Given the description of an element on the screen output the (x, y) to click on. 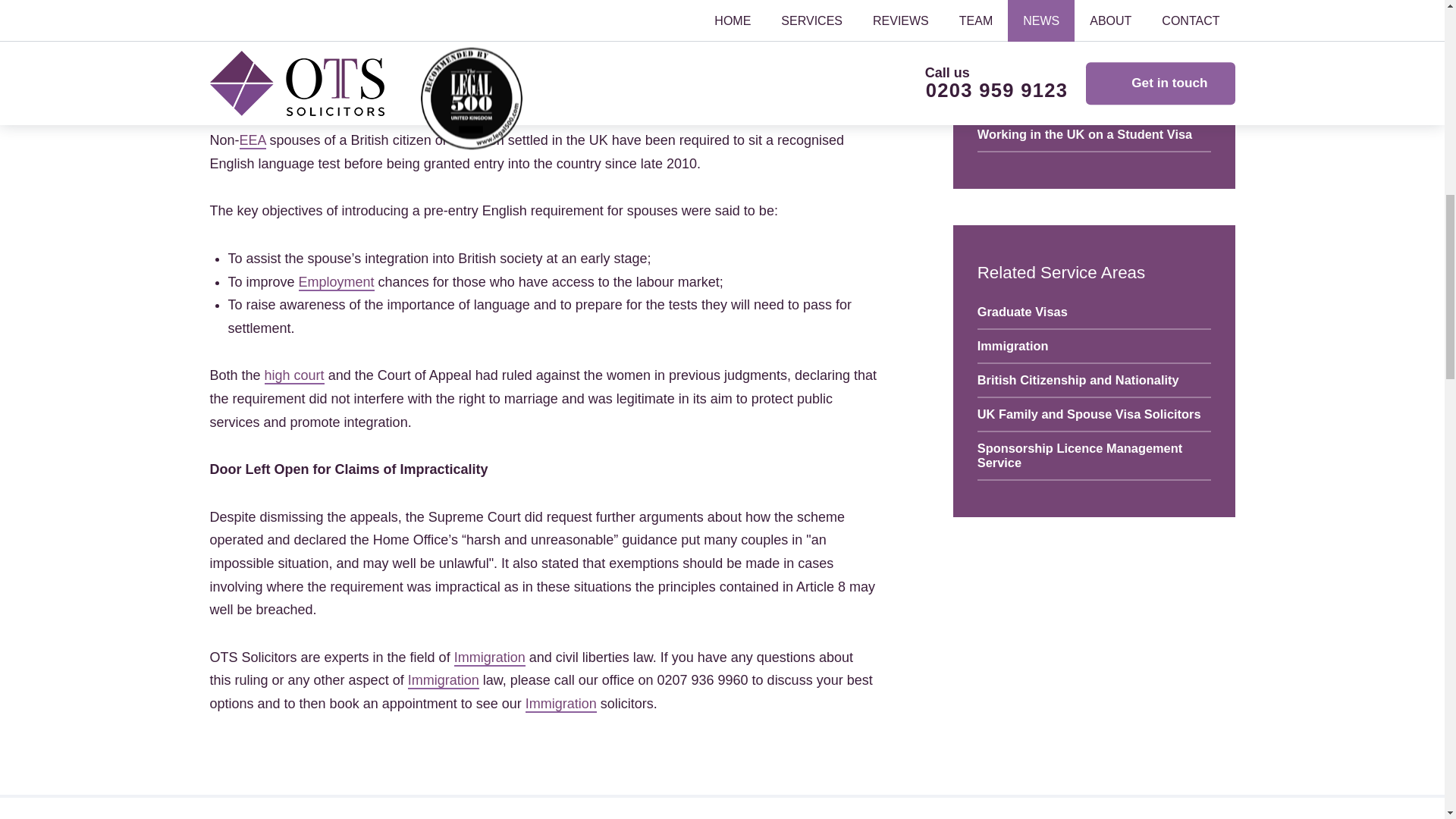
Immigration (443, 680)
Should I Send my Child Overseas for Schooling? (1093, 93)
Employment (336, 282)
Immigration (1093, 346)
Immigration (489, 658)
Graduate Visas (1093, 312)
Immigration (489, 658)
EEA (253, 140)
read more about Employment Law (336, 282)
Immigration (560, 704)
high court (294, 375)
EEA Applications (253, 140)
Immigration (443, 680)
High Court claims (294, 375)
Immigration (560, 704)
